Given the description of an element on the screen output the (x, y) to click on. 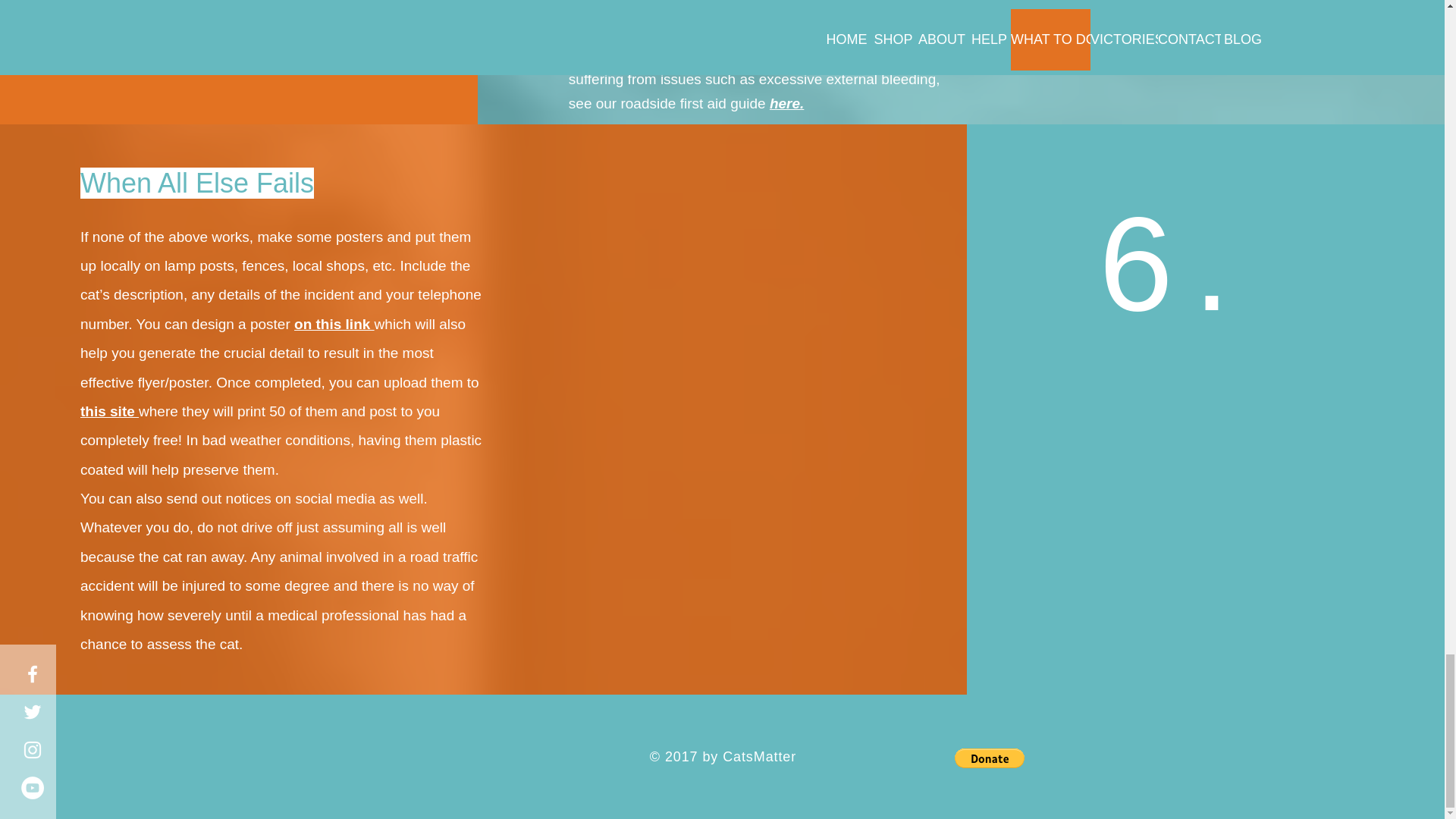
on this link (334, 324)
which will (404, 324)
here. (786, 103)
this site  (109, 411)
